Given the description of an element on the screen output the (x, y) to click on. 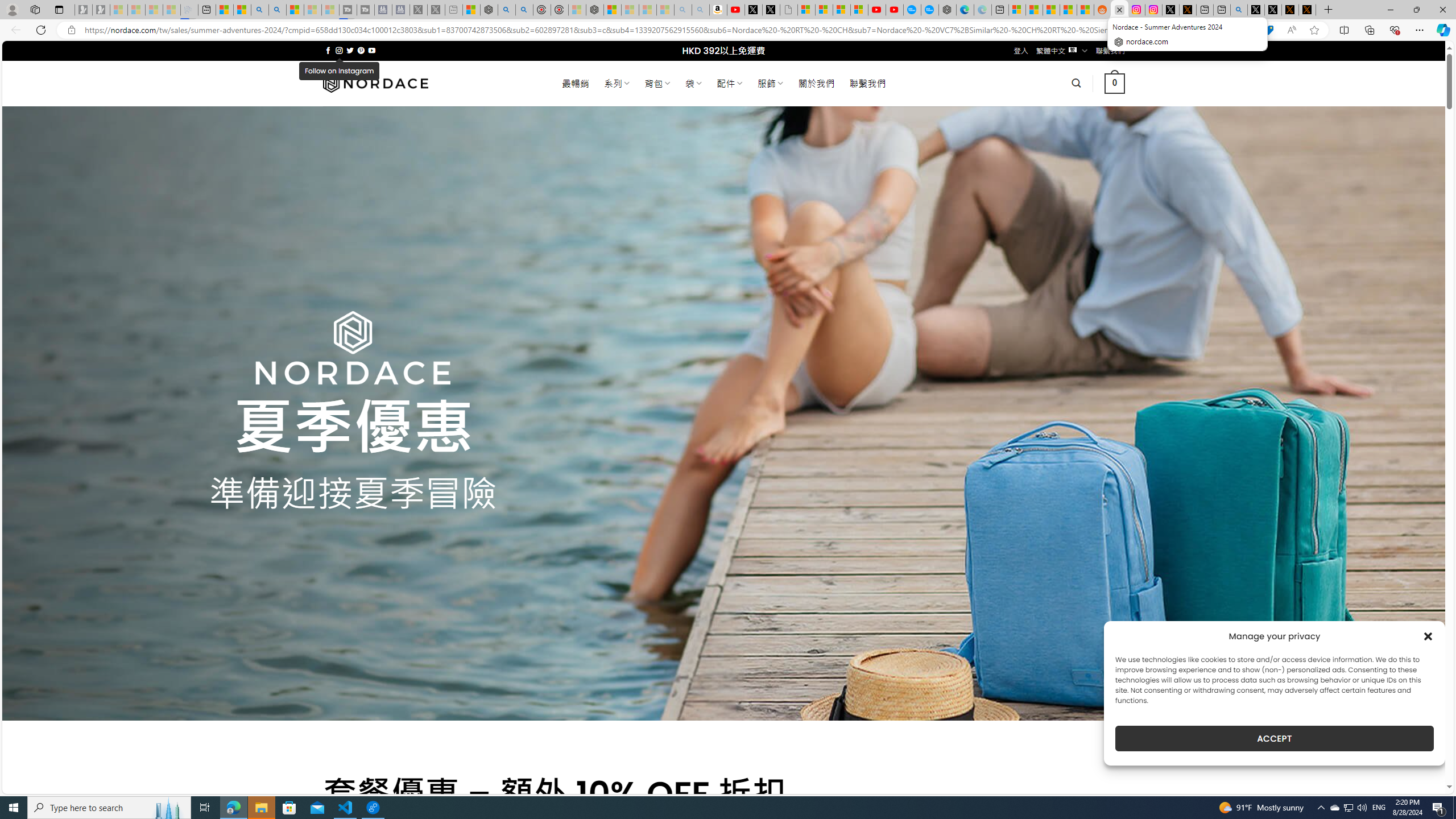
Follow on Instagram (338, 50)
github - Search (1238, 9)
Nordace (374, 83)
Newsletter Sign Up - Sleeping (101, 9)
Nordace - Nordace has arrived Hong Kong (946, 9)
  0   (1115, 83)
Minimize (1390, 9)
Close (1442, 9)
